Given the description of an element on the screen output the (x, y) to click on. 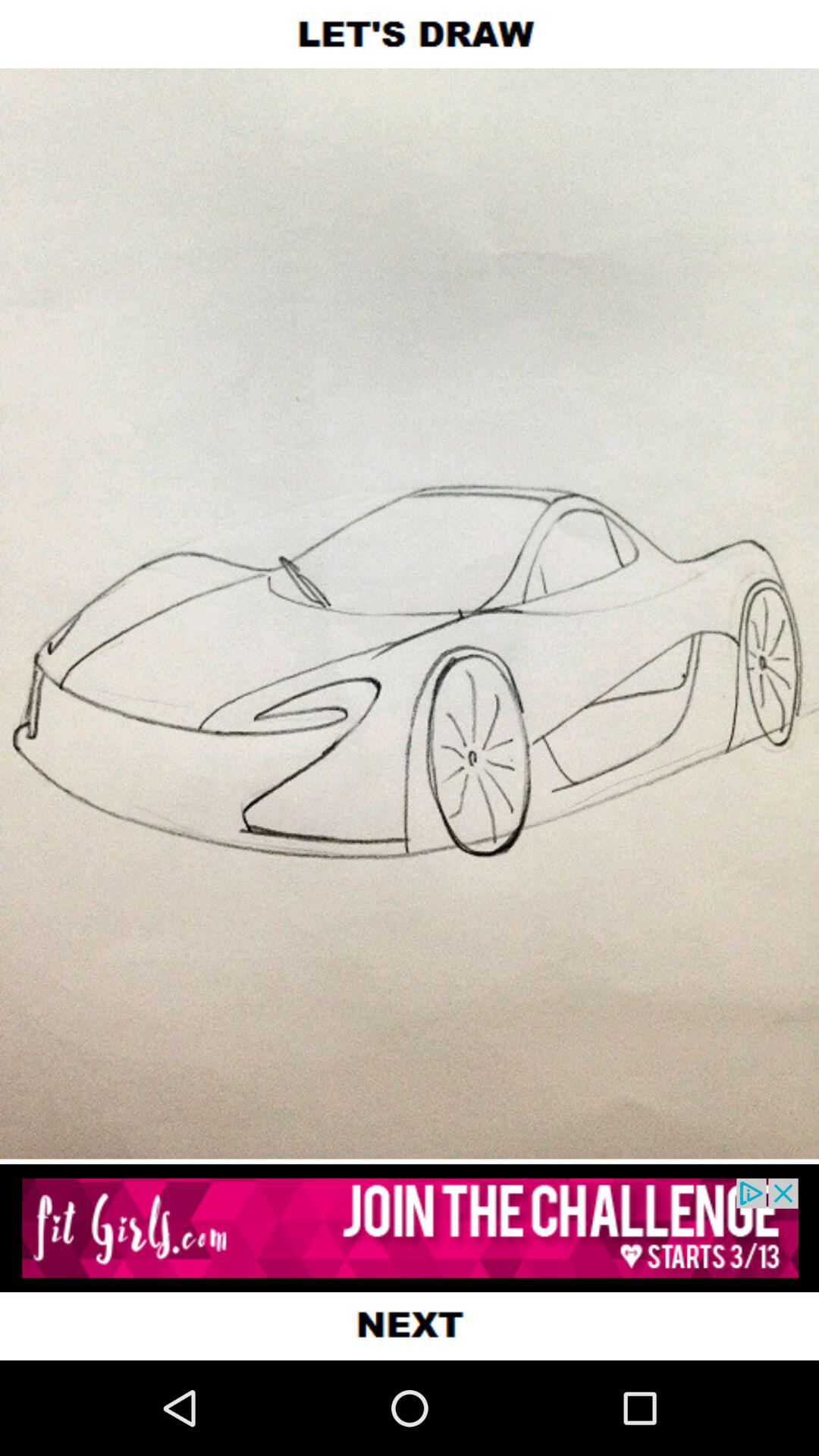
goes to advertiser 's website (409, 1227)
